Given the description of an element on the screen output the (x, y) to click on. 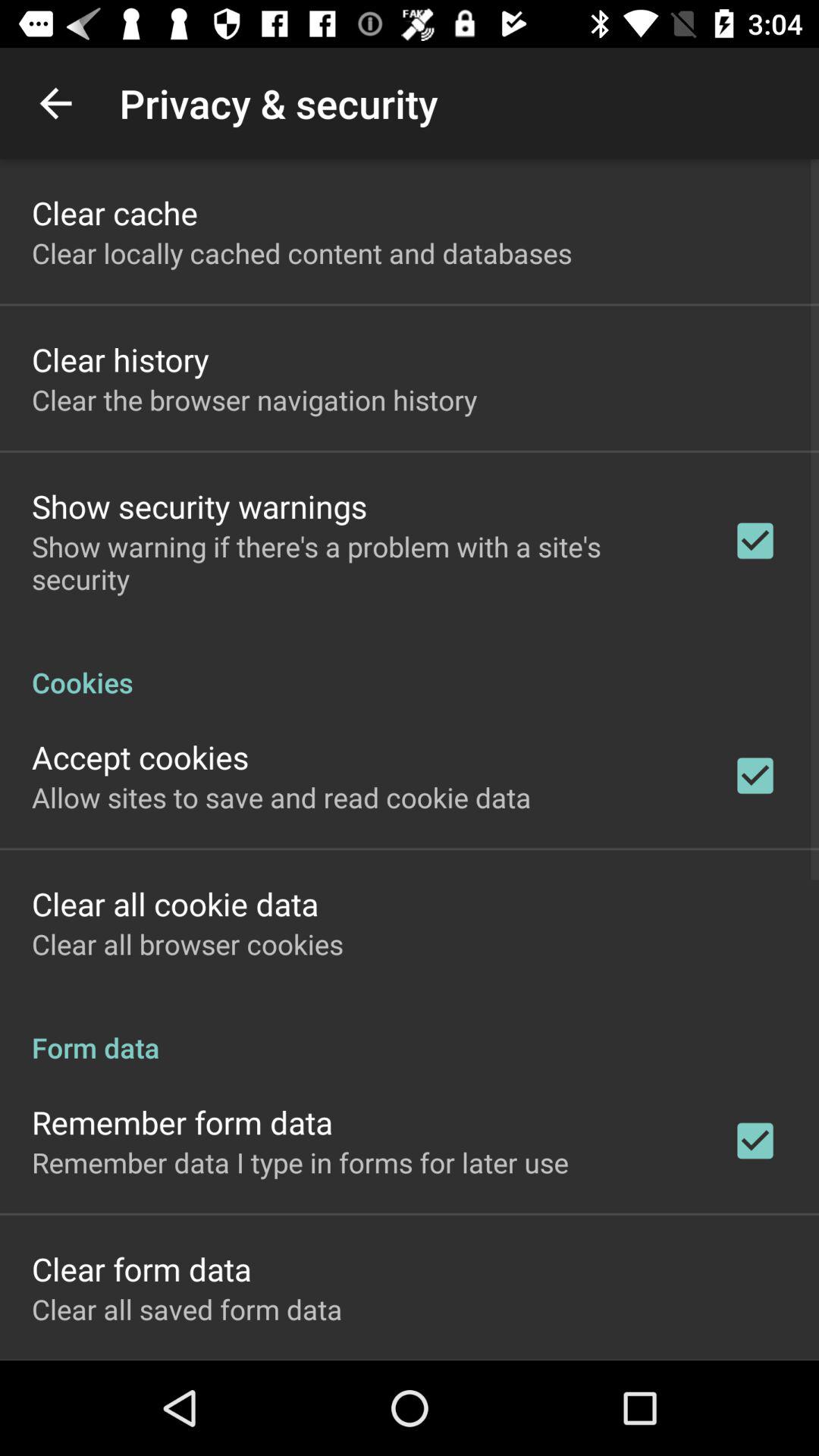
scroll until the allow sites to app (281, 797)
